Given the description of an element on the screen output the (x, y) to click on. 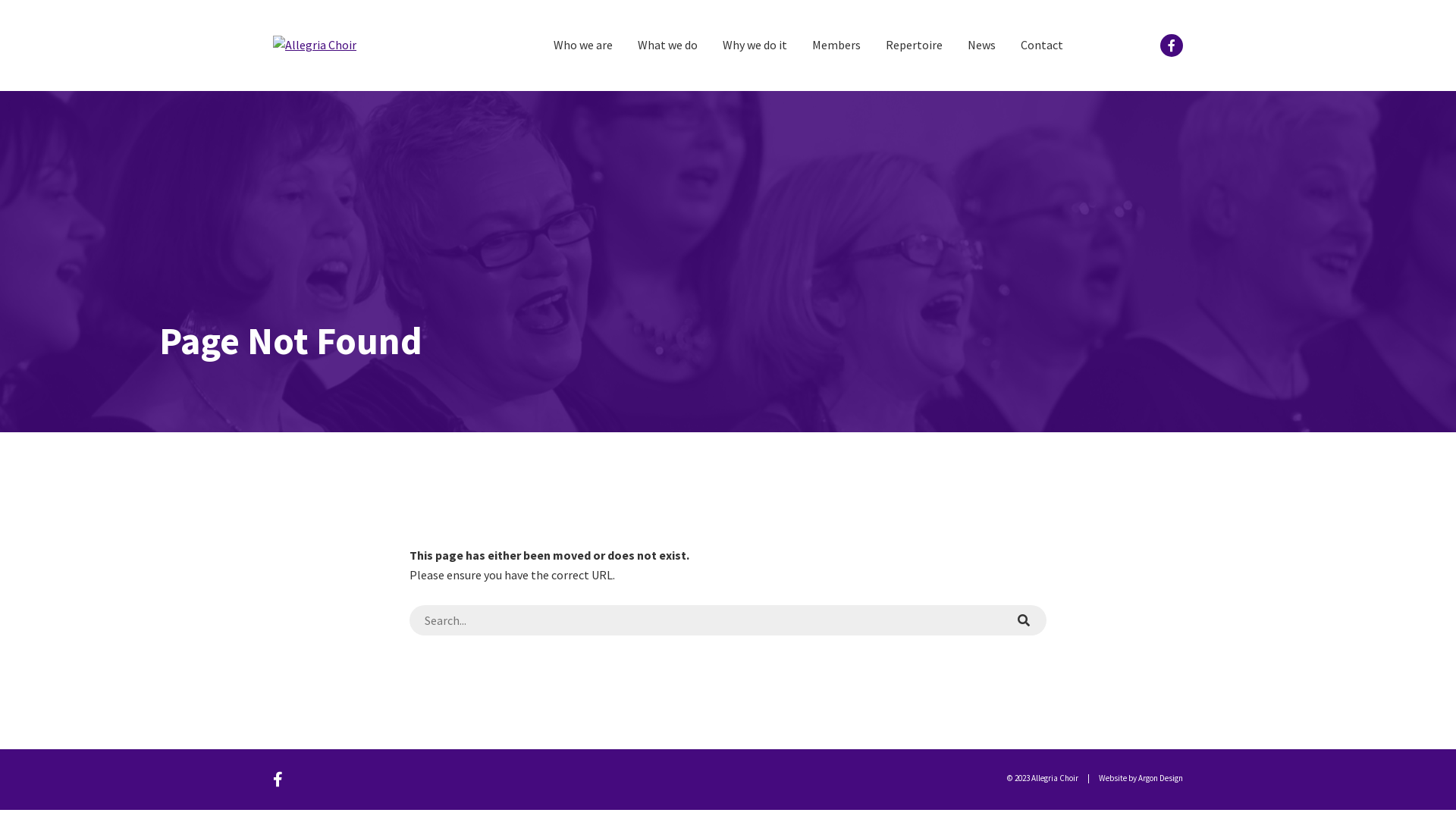
Repertoire Element type: text (913, 44)
Who we are Element type: text (582, 44)
Why we do it Element type: text (753, 44)
Members Element type: text (835, 44)
What we do Element type: text (666, 44)
News Element type: text (981, 44)
Website by Argon Design Element type: text (1140, 777)
Contact Element type: text (1041, 44)
